Given the description of an element on the screen output the (x, y) to click on. 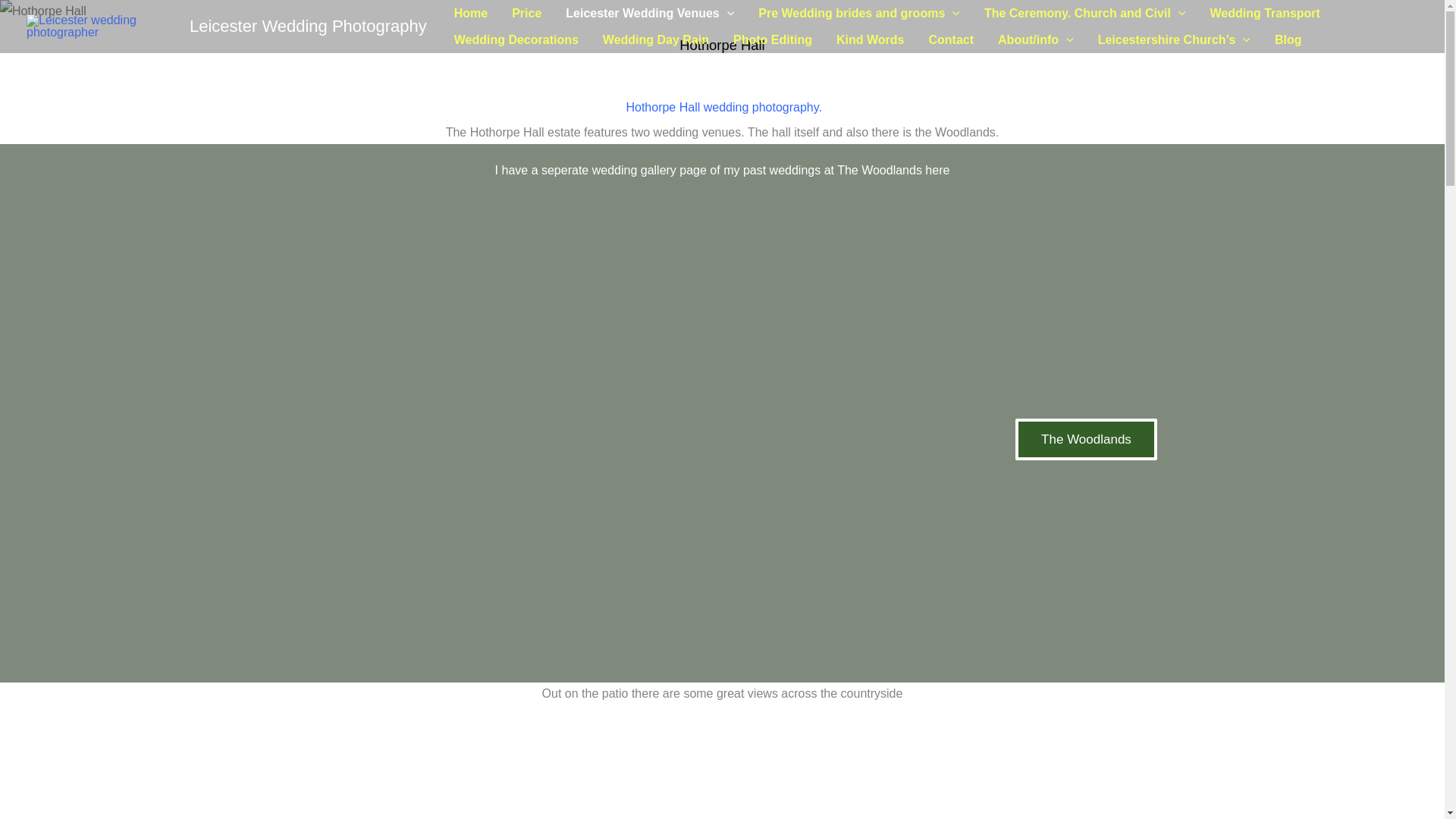
Leicester Wedding Venues (649, 13)
Home (470, 13)
Leicester Wedding Photography (307, 26)
The Ceremony. Church and Civil (1085, 13)
Pre Wedding brides and grooms (858, 13)
Price (526, 13)
Wedding Transport (1264, 13)
